Given the description of an element on the screen output the (x, y) to click on. 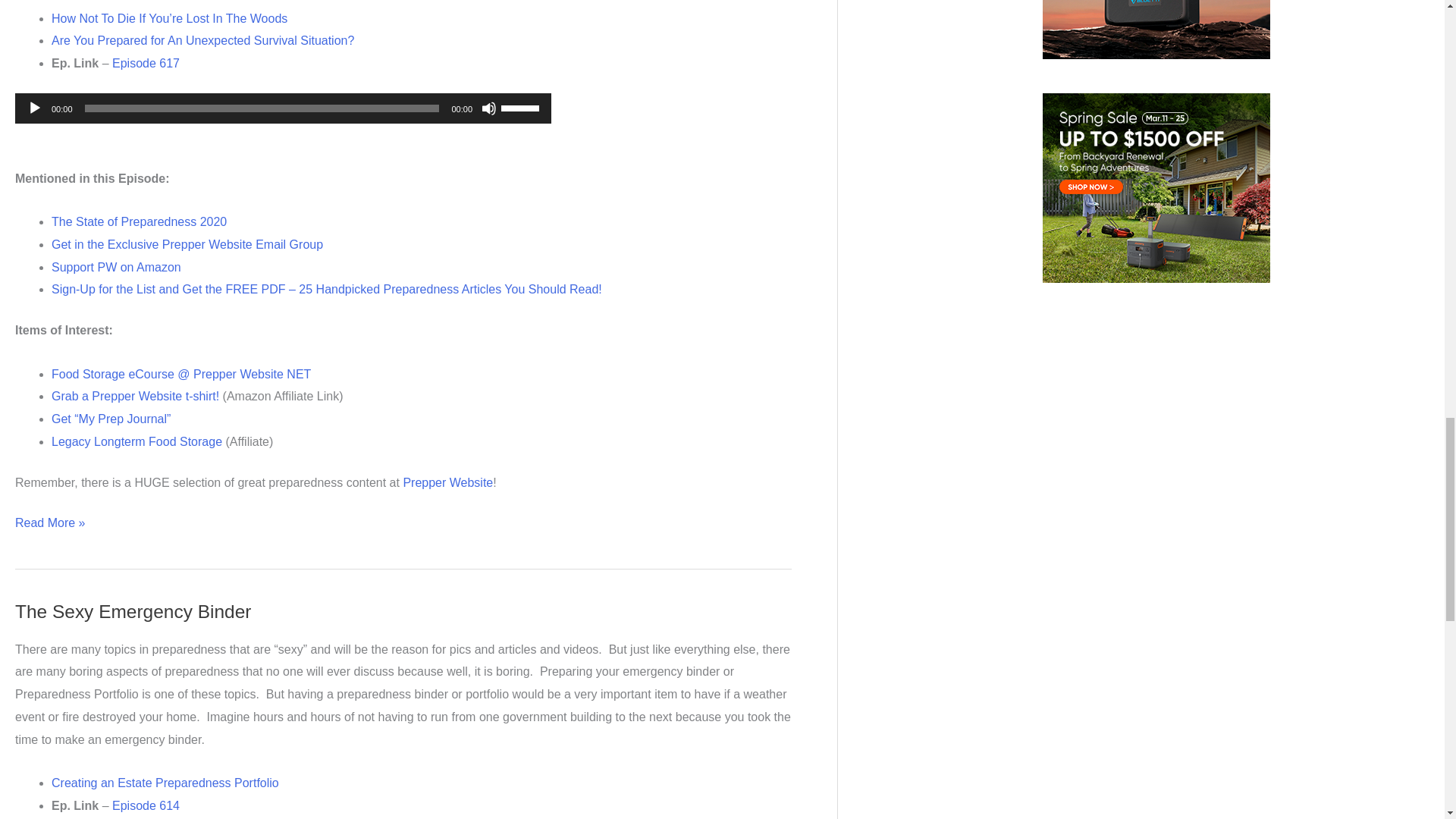
Episode 617 (145, 62)
Mute (488, 108)
Are You Prepared for An Unexpected Survival Situation? (201, 40)
Play (34, 108)
